Given the description of an element on the screen output the (x, y) to click on. 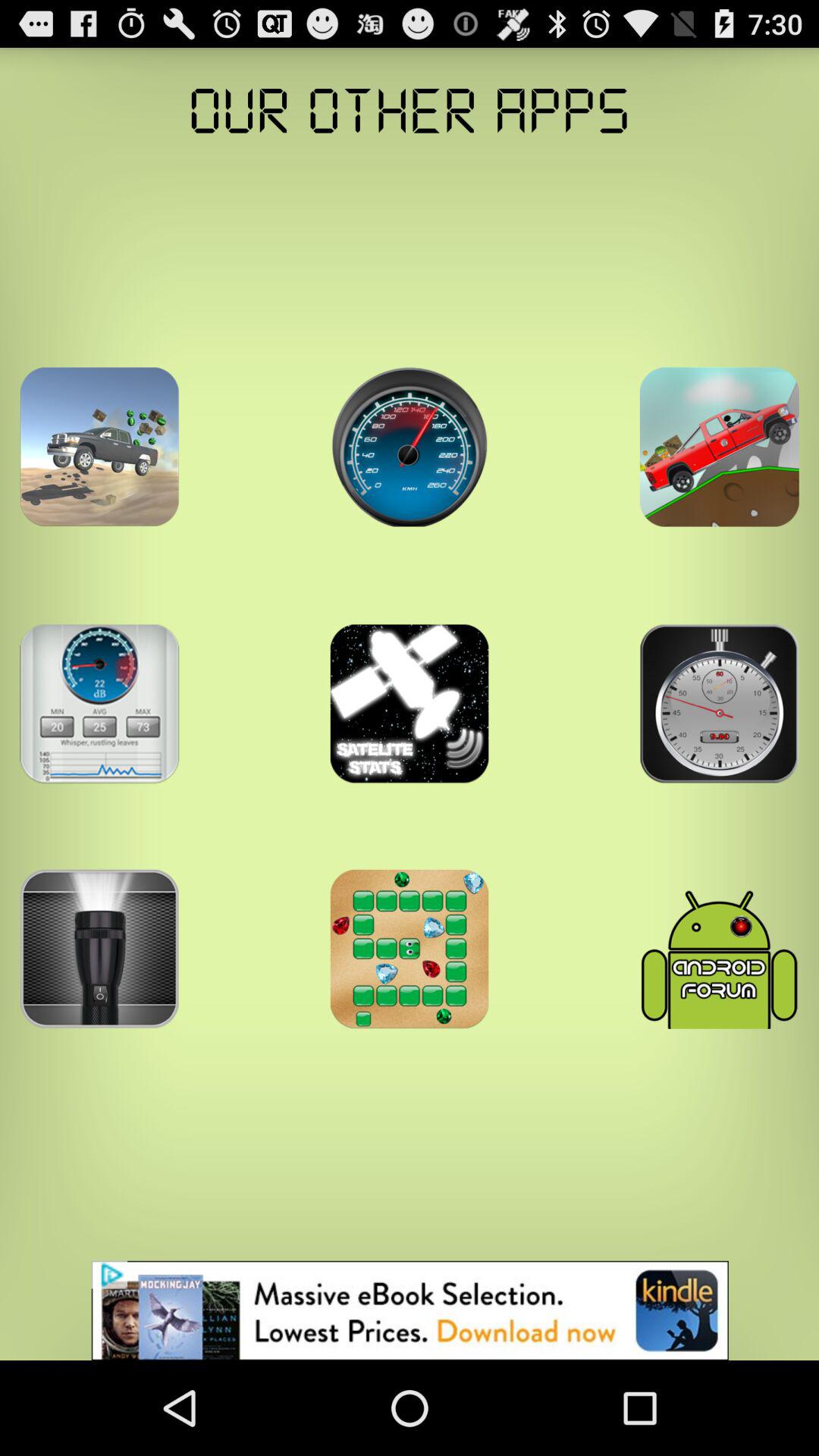
open digispeed gps app (409, 446)
